Given the description of an element on the screen output the (x, y) to click on. 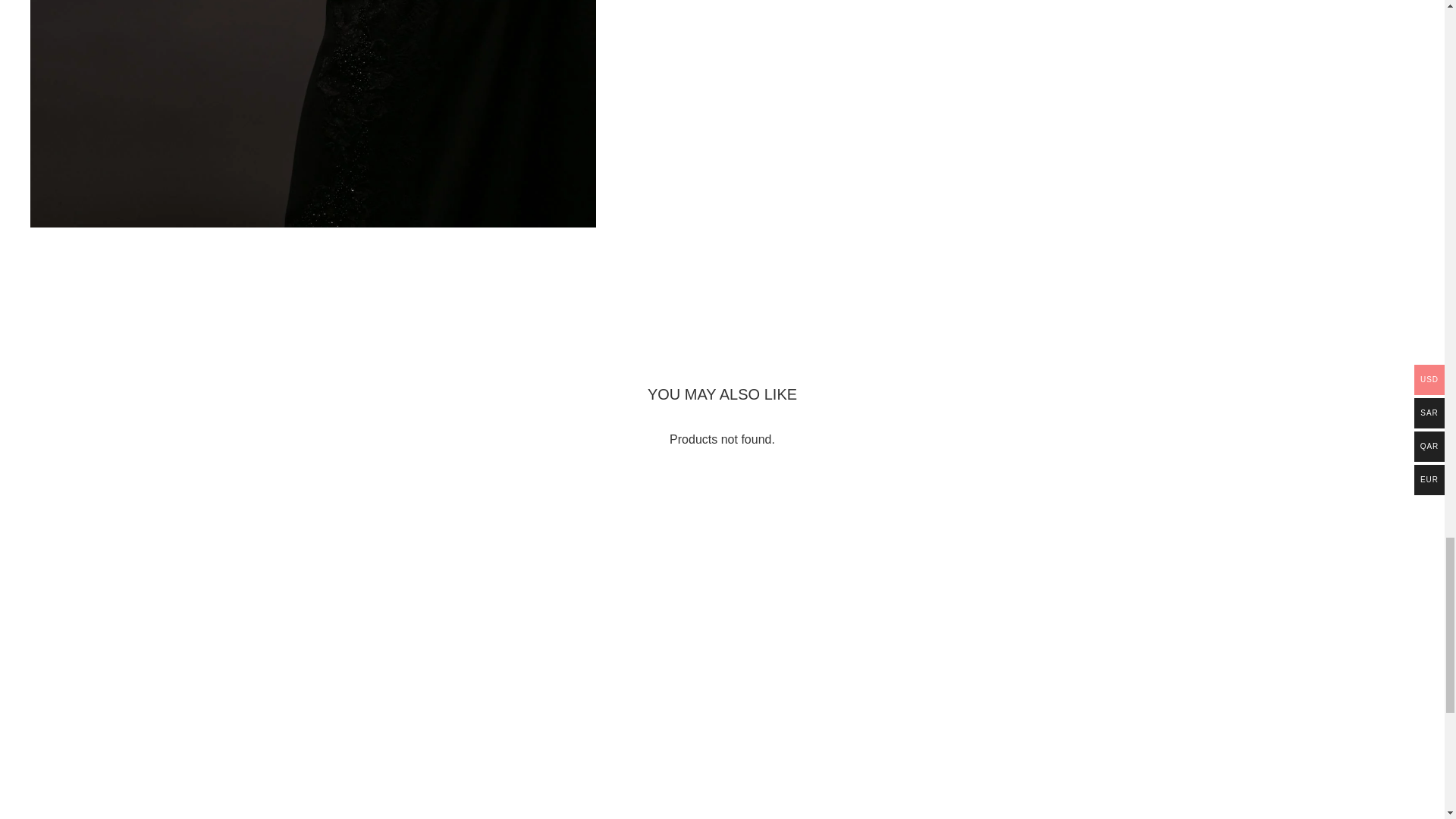
0Y4A1187 (312, 113)
